Given the description of an element on the screen output the (x, y) to click on. 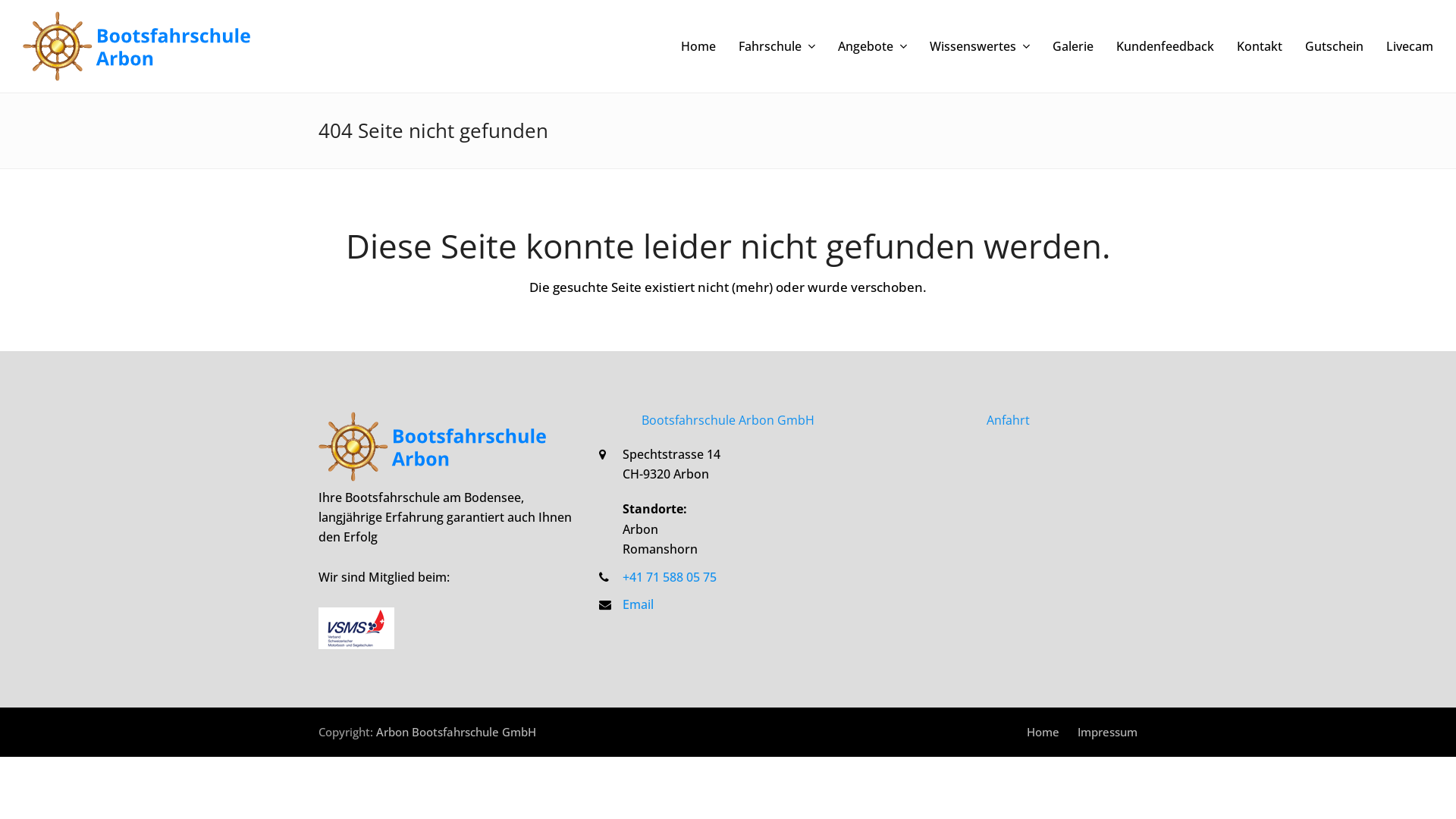
Google Maps Element type: hover (1008, 538)
Home Element type: text (1042, 731)
Wissenswertes Element type: text (979, 46)
Galerie Element type: text (1072, 46)
Email Element type: text (637, 604)
Impressum Element type: text (1107, 731)
Livecam Element type: text (1409, 46)
Gutschein Element type: text (1333, 46)
Angebote Element type: text (872, 46)
+41 71 588 05 75 Element type: text (669, 576)
Fahrschule Element type: text (776, 46)
Home Element type: text (698, 46)
Kundenfeedback Element type: text (1164, 46)
Kontakt Element type: text (1259, 46)
Arbon Bootsfahrschule GmbH Element type: text (456, 731)
